Given the description of an element on the screen output the (x, y) to click on. 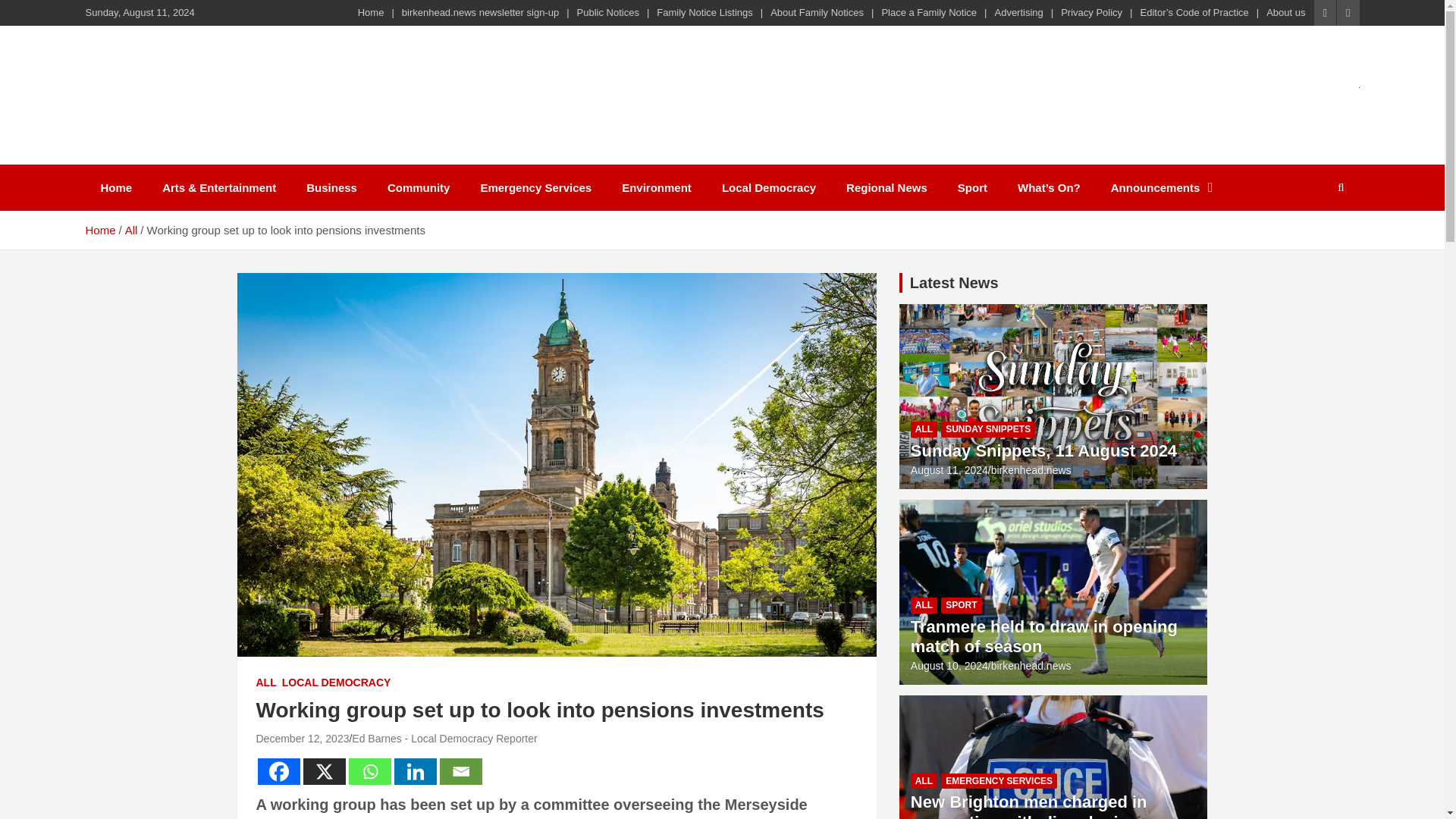
Regional News (886, 187)
Working group set up to look into pensions investments (302, 738)
Place a Family Notice (928, 12)
Home (99, 229)
Business (331, 187)
X (324, 771)
Announcements (1162, 187)
Public Notices (607, 12)
Family Notice Listings (704, 12)
Home (115, 187)
